Given the description of an element on the screen output the (x, y) to click on. 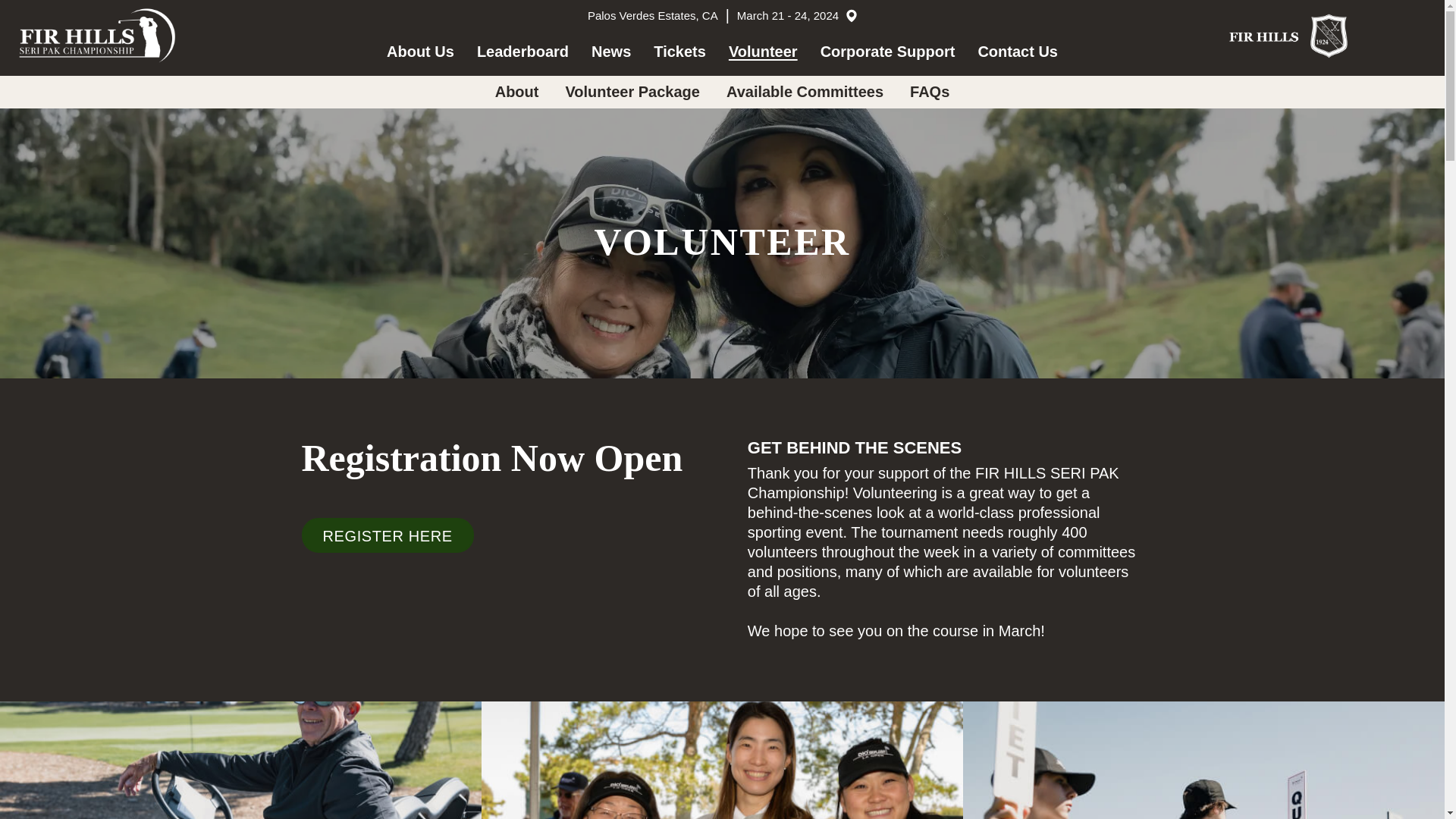
Corporate Support (888, 51)
About Us (420, 51)
News (610, 51)
Volunteer (763, 51)
Leaderboard (523, 51)
Contact Us (1017, 51)
golf club on Google Maps (850, 15)
Tickets (679, 51)
